Given the description of an element on the screen output the (x, y) to click on. 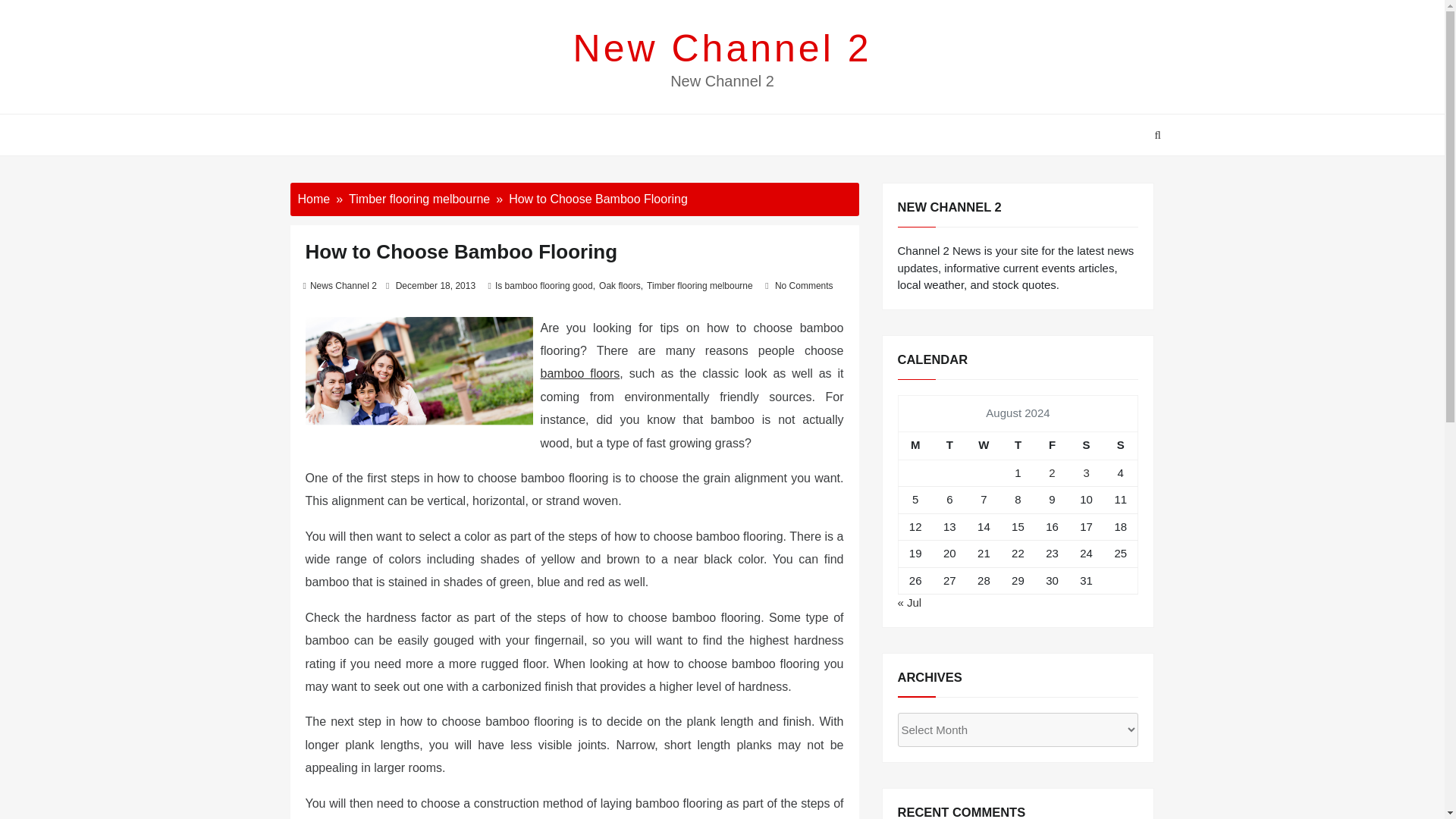
Home (313, 198)
Sunday (1120, 445)
More things online (580, 373)
December 18, 2013 (436, 285)
Is bamboo flooring good (543, 285)
Wednesday (983, 445)
Timber flooring melbourne (699, 285)
No Comments (803, 285)
Oak floors (619, 285)
Timber flooring melbourne (419, 198)
New Channel 2 (722, 48)
News Channel 2 (343, 285)
Friday (1051, 445)
Tuesday (949, 445)
Saturday (1085, 445)
